Given the description of an element on the screen output the (x, y) to click on. 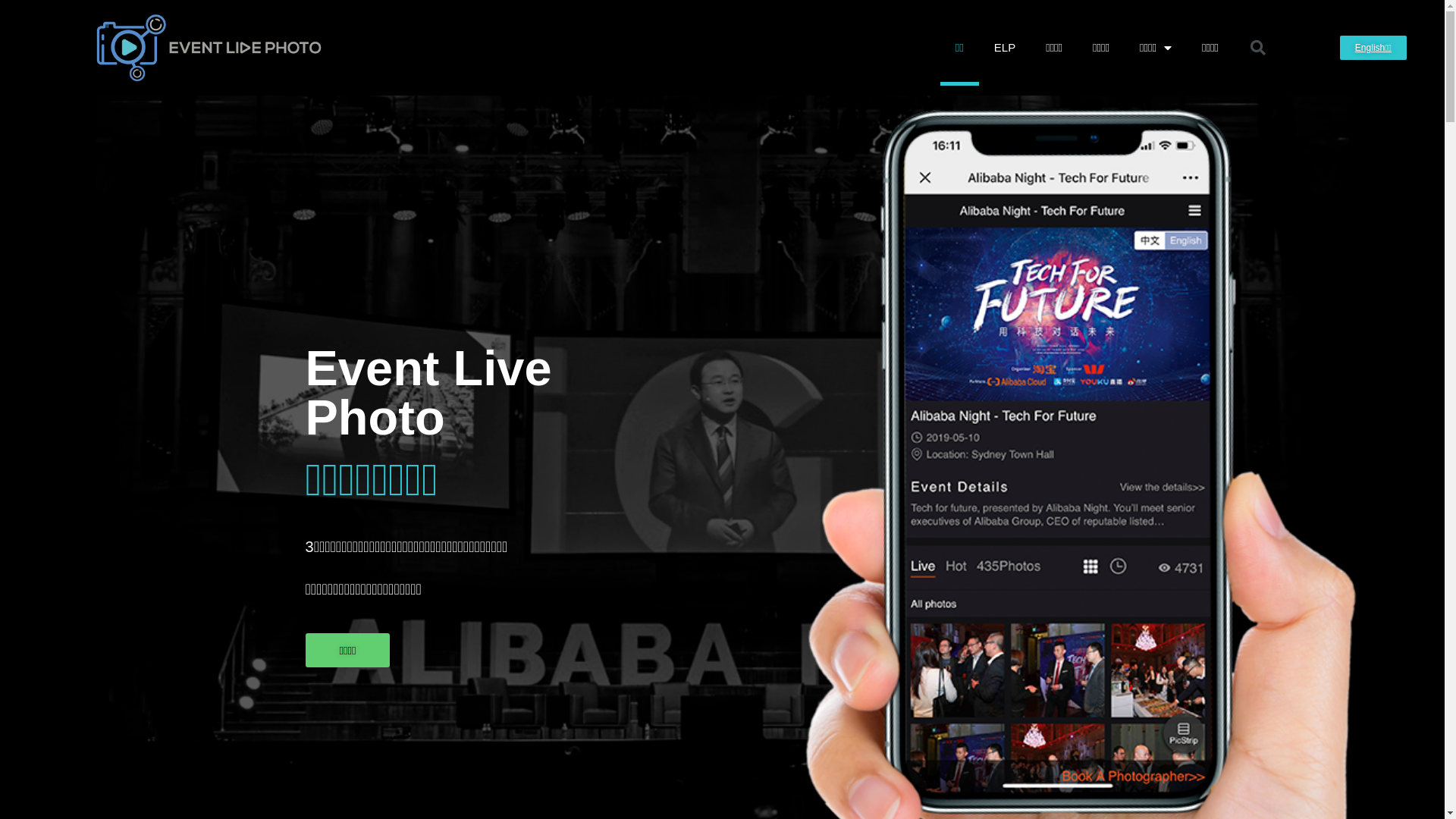
ELP Element type: text (1004, 47)
ELP Large-03 Element type: hover (208, 47)
